Given the description of an element on the screen output the (x, y) to click on. 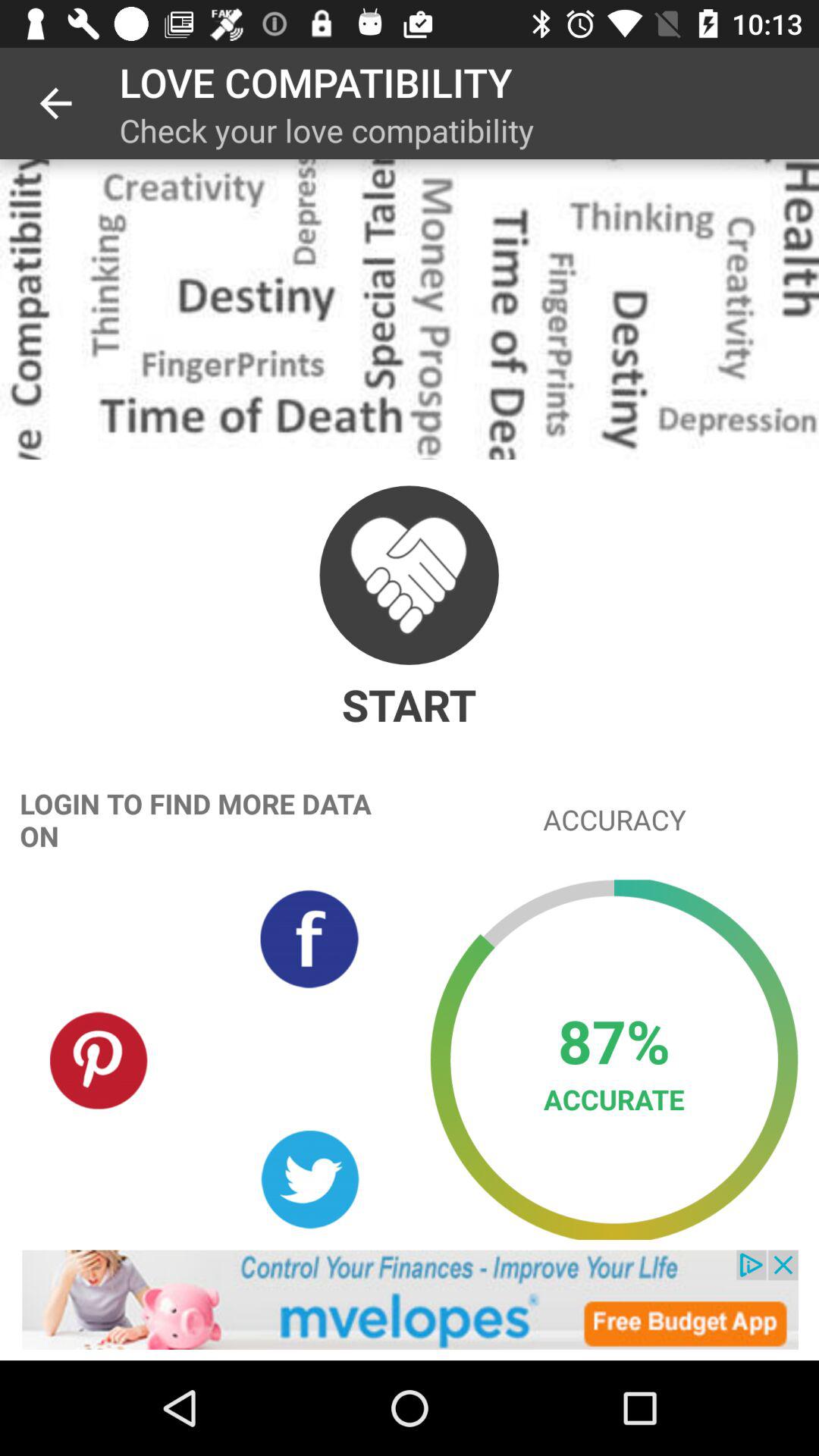
go to pinterest (99, 1059)
